Given the description of an element on the screen output the (x, y) to click on. 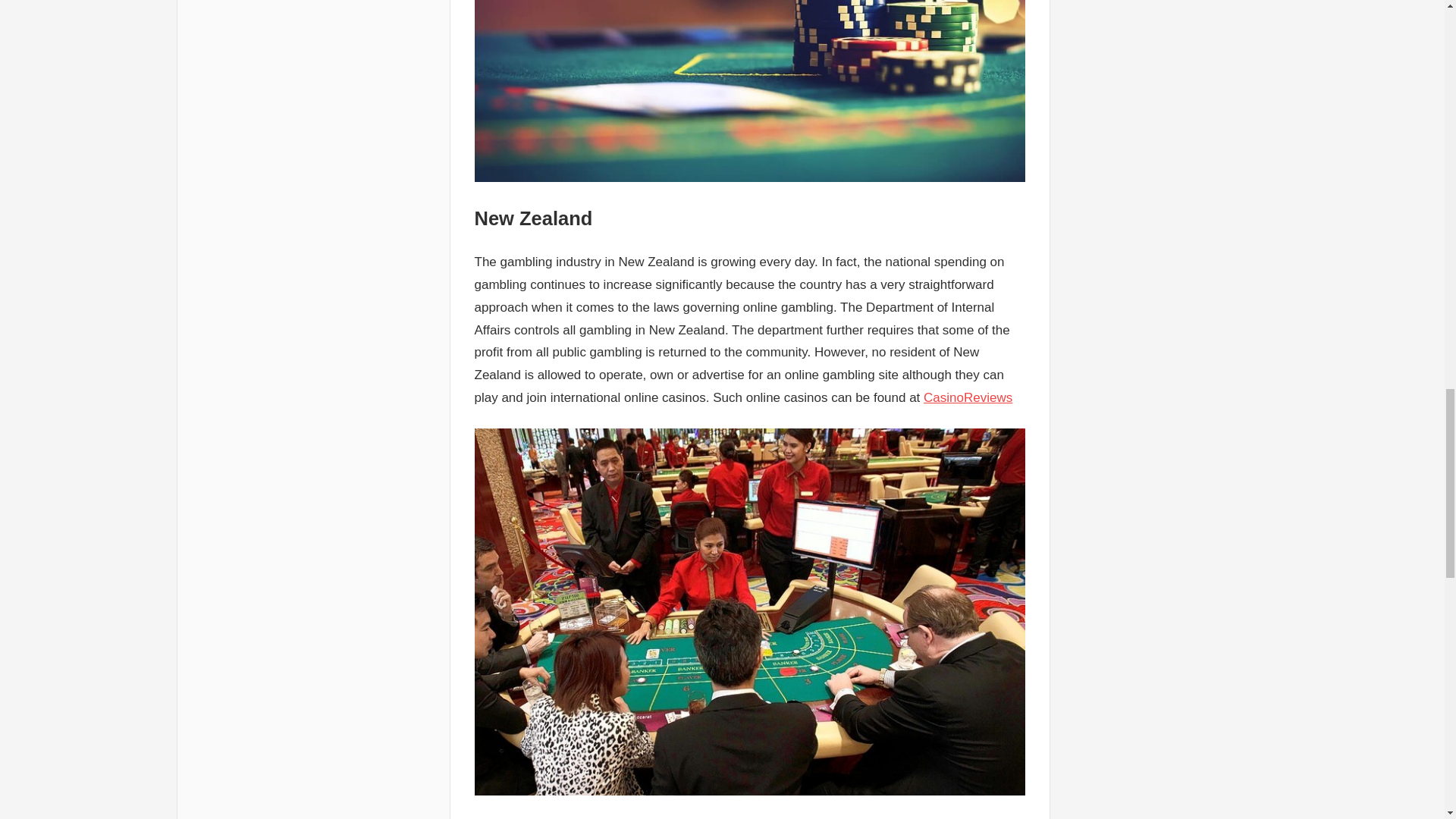
CasinoReviews (967, 397)
